Given the description of an element on the screen output the (x, y) to click on. 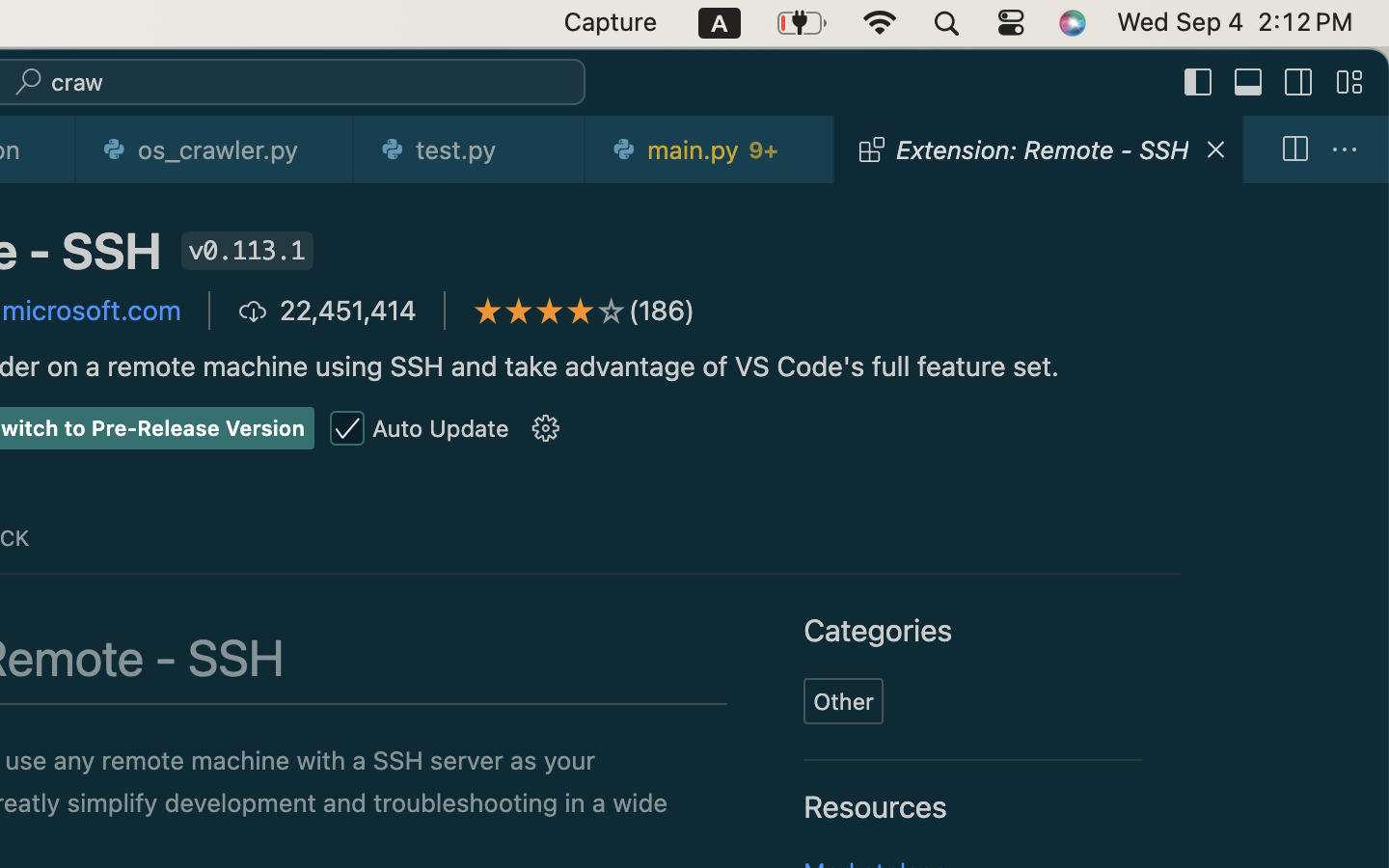
 Element type: AXCheckBox (346, 428)
 Element type: AXCheckBox (1248, 82)
 Element type: AXButton (1294, 150)
 Element type: AXStaticText (1344, 150)
(186) Element type: AXStaticText (662, 310)
